Given the description of an element on the screen output the (x, y) to click on. 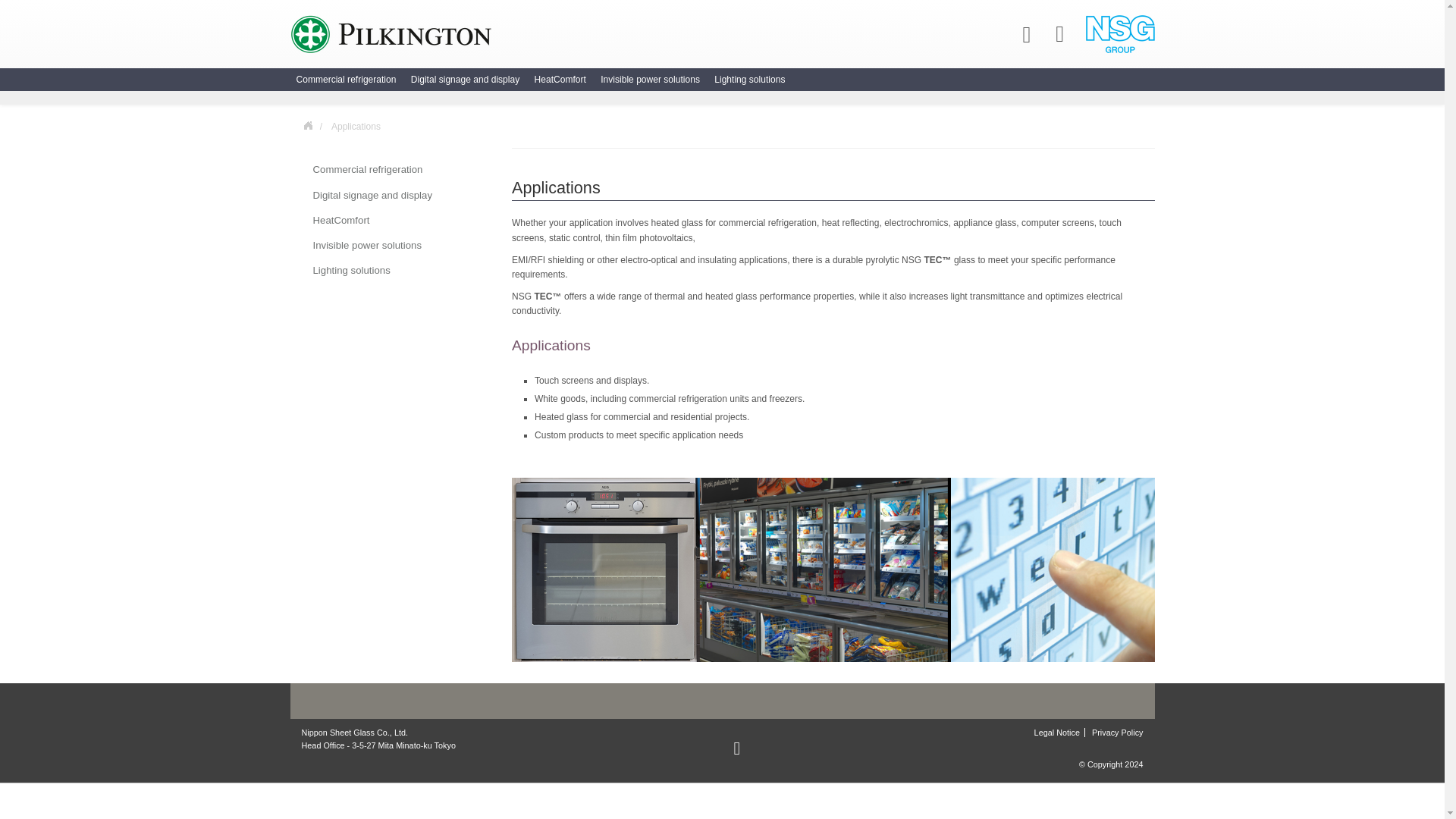
submit (18, 18)
